Given the description of an element on the screen output the (x, y) to click on. 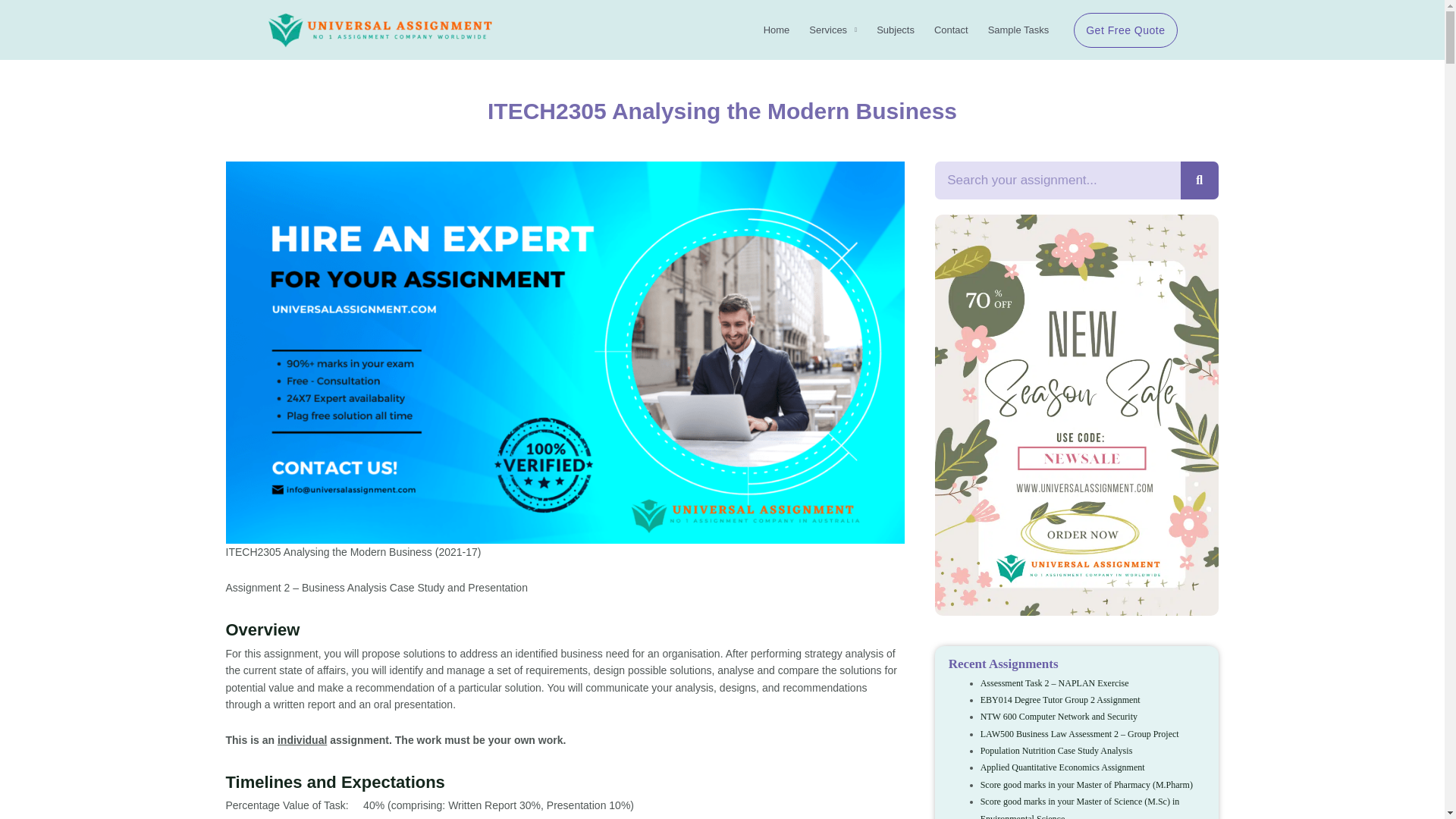
Subjects (895, 30)
Services (832, 30)
Contact (951, 30)
Home (776, 30)
